Given the description of an element on the screen output the (x, y) to click on. 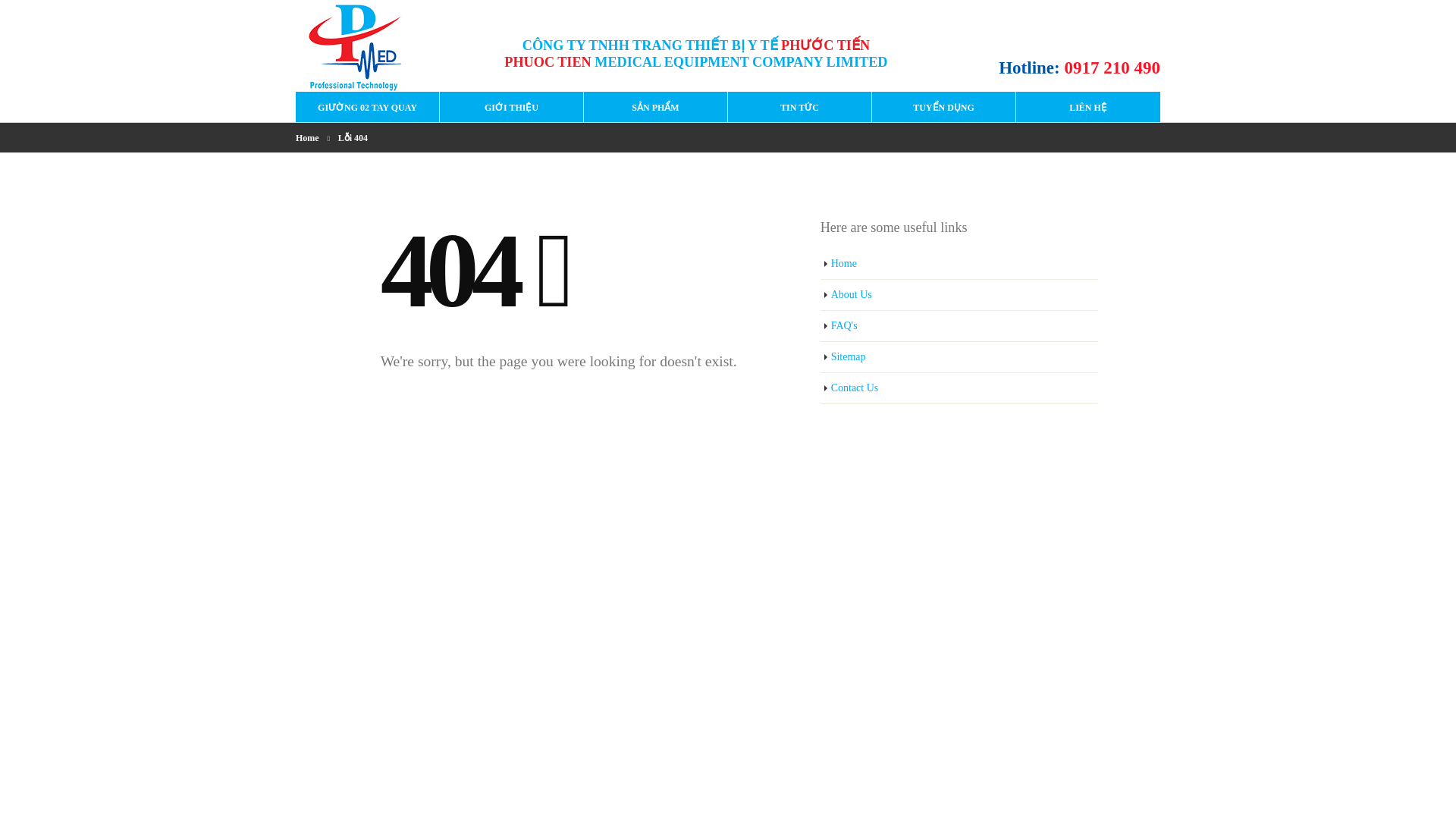
About Us (960, 295)
Home (306, 137)
FAQ's (960, 326)
Contact Us (960, 388)
Sitemap (960, 357)
Home (960, 264)
